Given the description of an element on the screen output the (x, y) to click on. 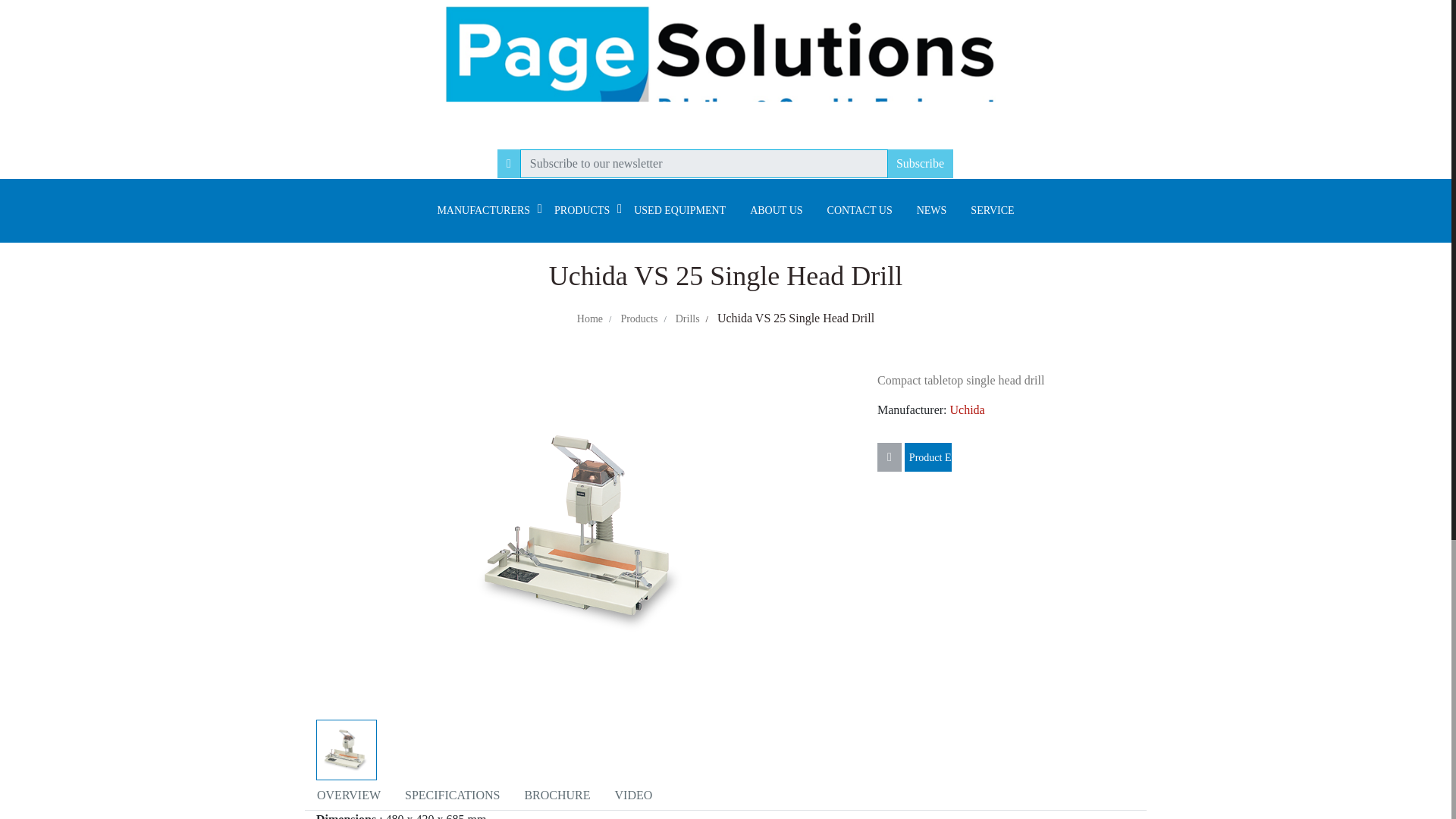
Logo (725, 71)
Product Enquiry (928, 457)
MANUFACTURERS (483, 210)
Subscribe (919, 163)
PRODUCTS (581, 210)
